Given the description of an element on the screen output the (x, y) to click on. 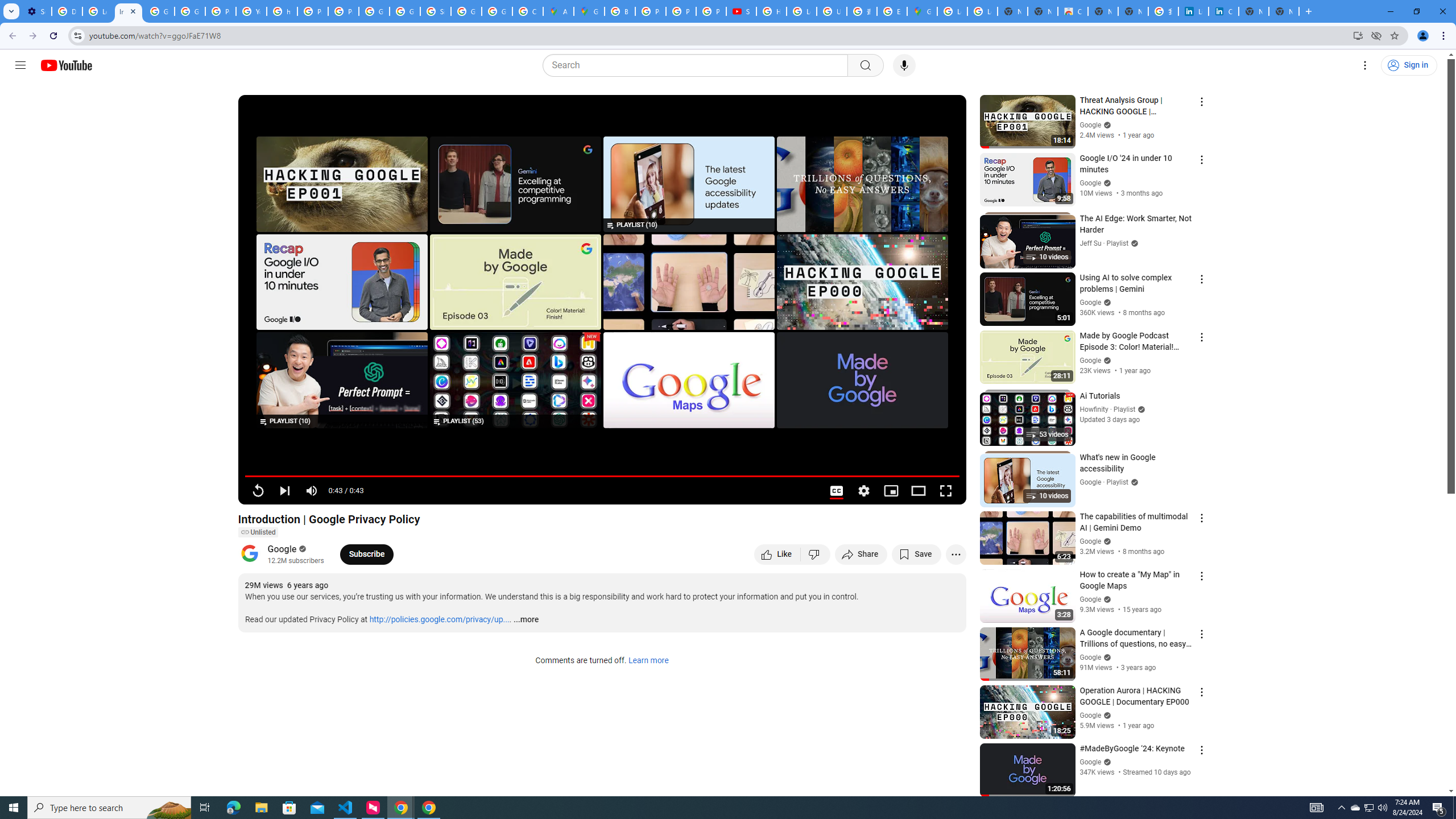
Privacy Help Center - Policies Help (681, 11)
Search with your voice (903, 65)
More actions (955, 554)
Create your Google Account (527, 11)
Miniplayer (i) (890, 490)
Settings (1365, 65)
